Given the description of an element on the screen output the (x, y) to click on. 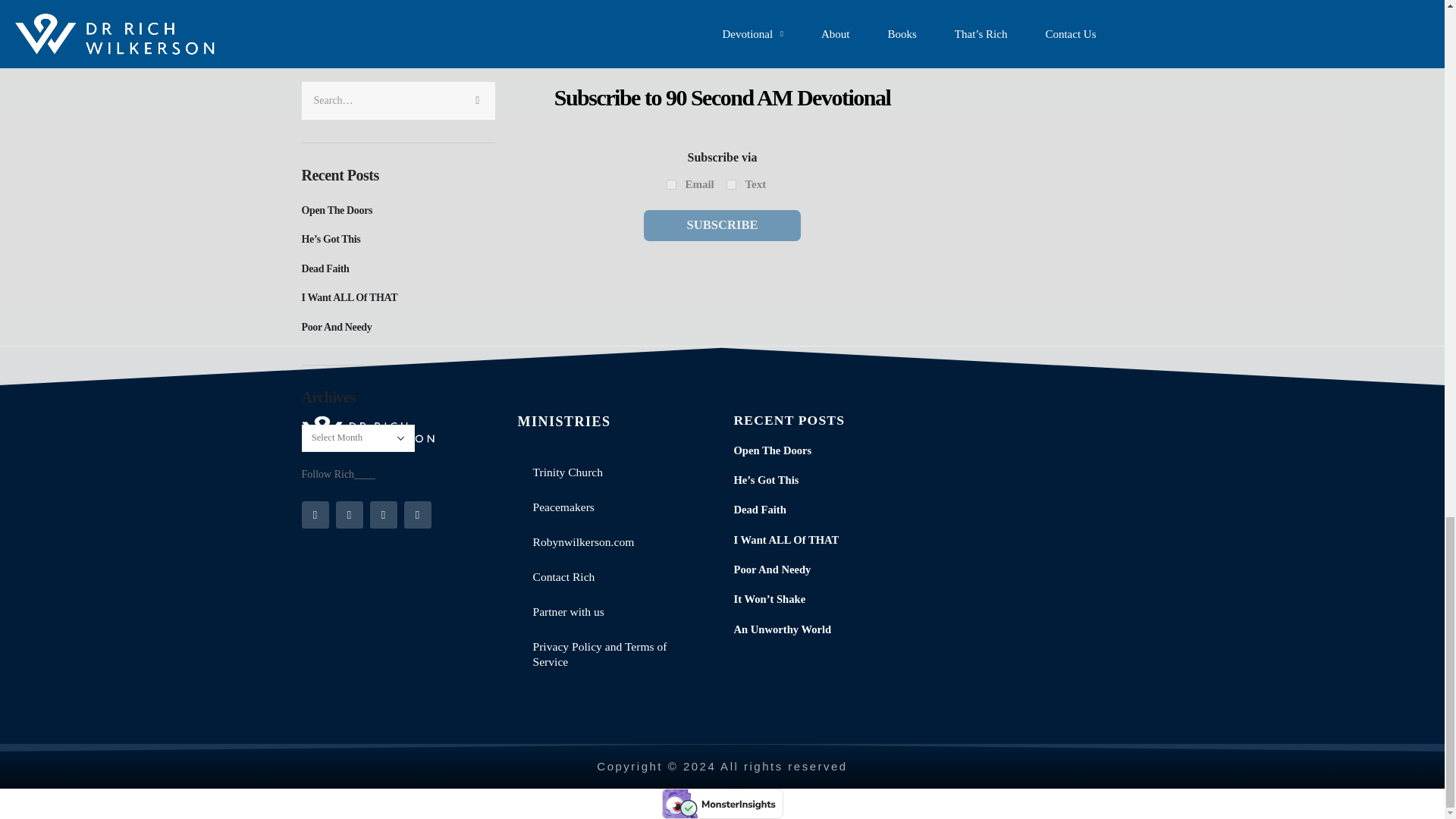
Email (671, 184)
SUBSCRIBE (721, 224)
Text (731, 184)
